Given the description of an element on the screen output the (x, y) to click on. 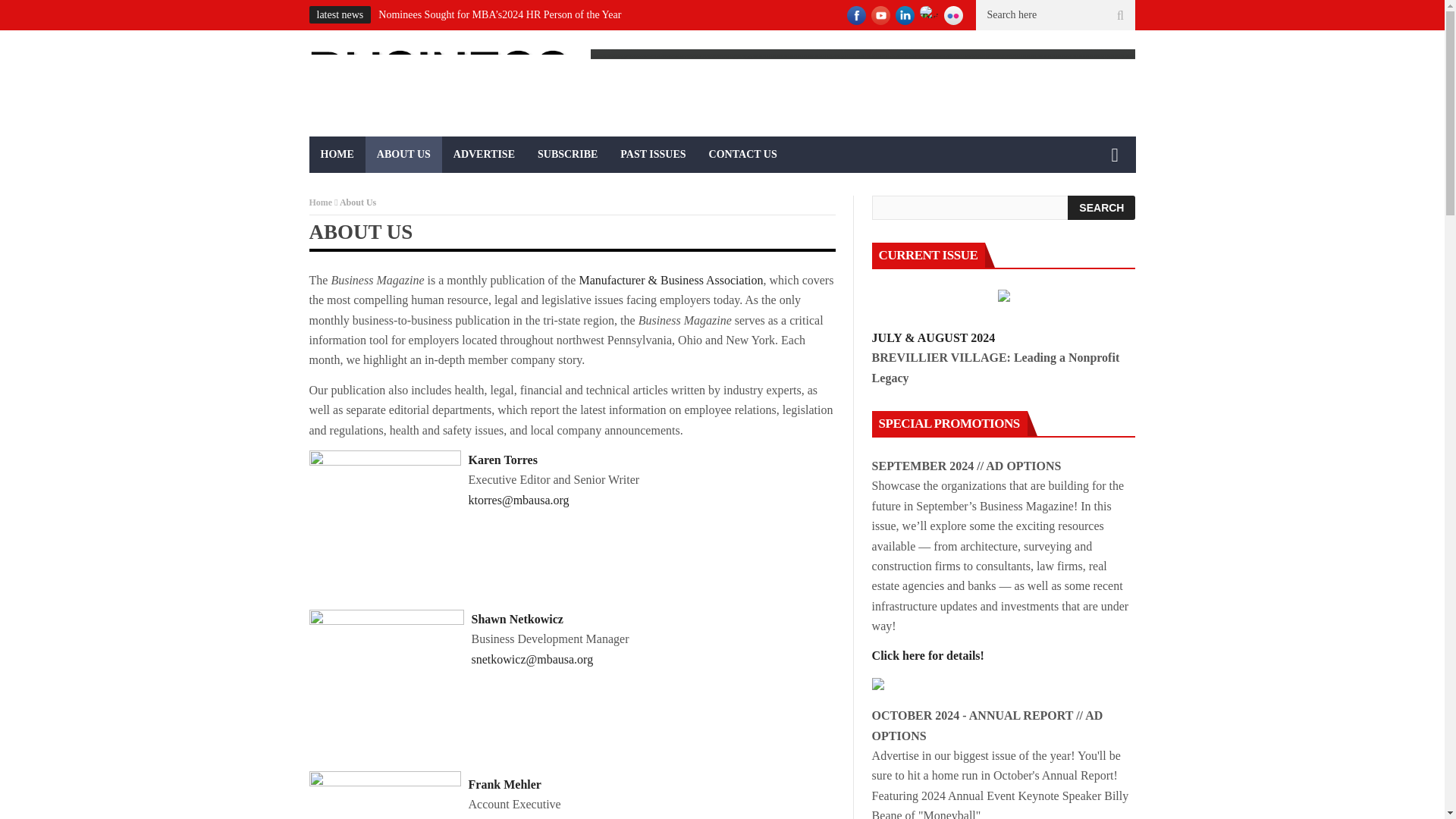
CONTACT US (743, 154)
HOME (336, 154)
SUBSCRIBE (566, 154)
ABOUT US (403, 154)
ADVERTISE (483, 154)
Search (1101, 207)
PAST ISSUES (652, 154)
